Given the description of an element on the screen output the (x, y) to click on. 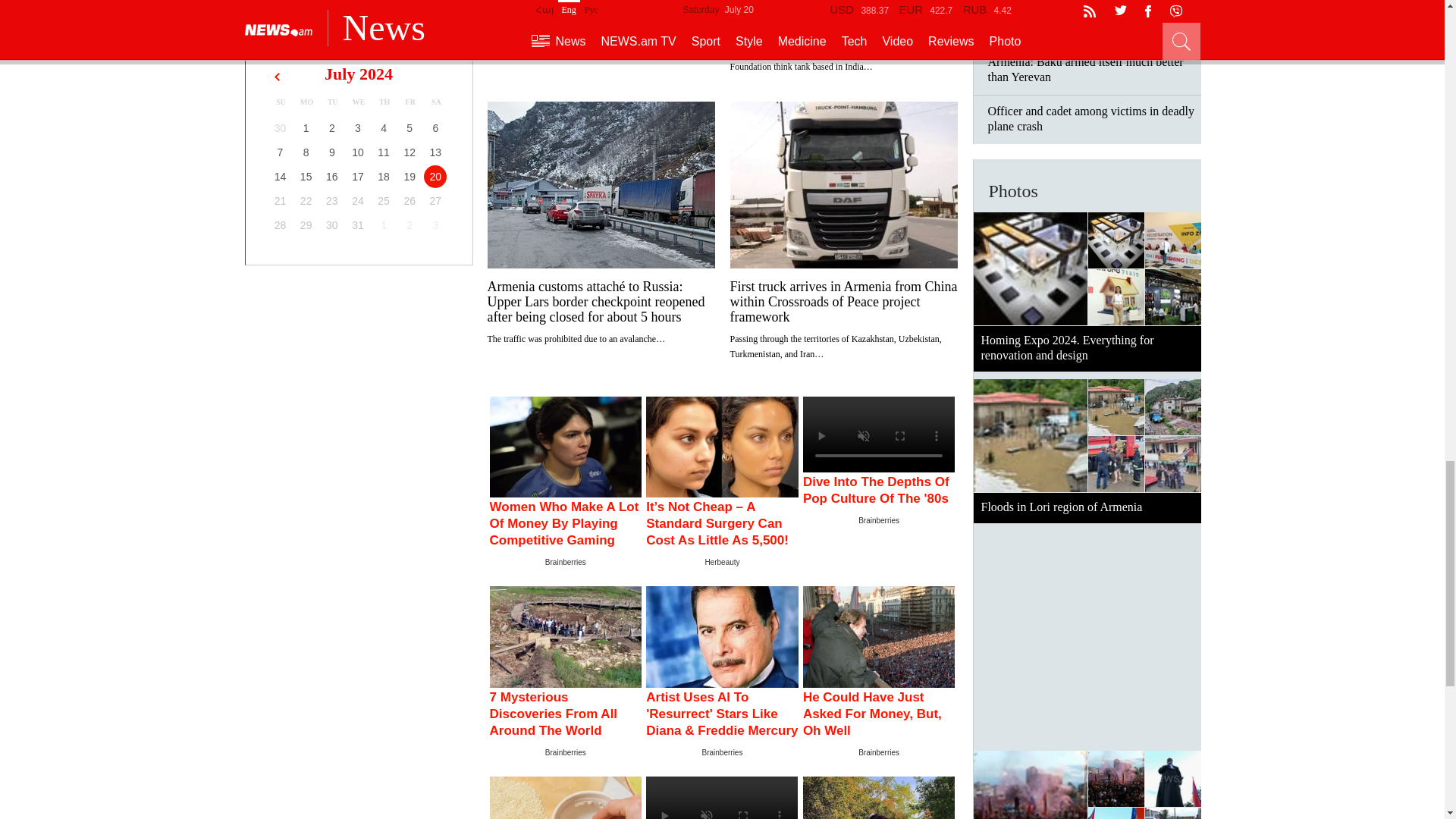
Wednesday (358, 101)
Thursday (384, 101)
Monday (306, 101)
Friday (410, 101)
Tuesday (332, 101)
Sunday (280, 101)
Saturday (435, 101)
